Given the description of an element on the screen output the (x, y) to click on. 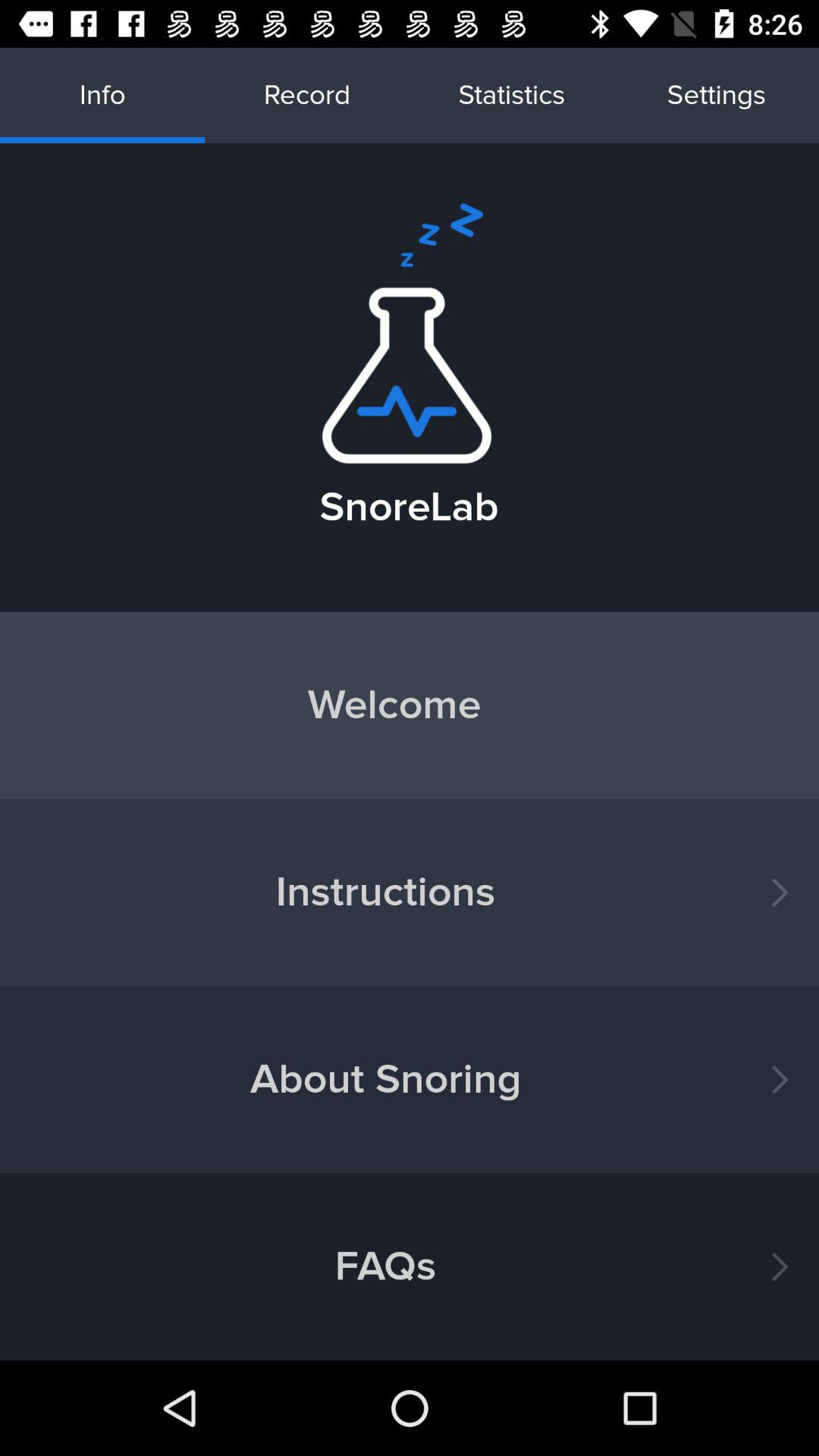
click icon above the about snoring icon (409, 892)
